Given the description of an element on the screen output the (x, y) to click on. 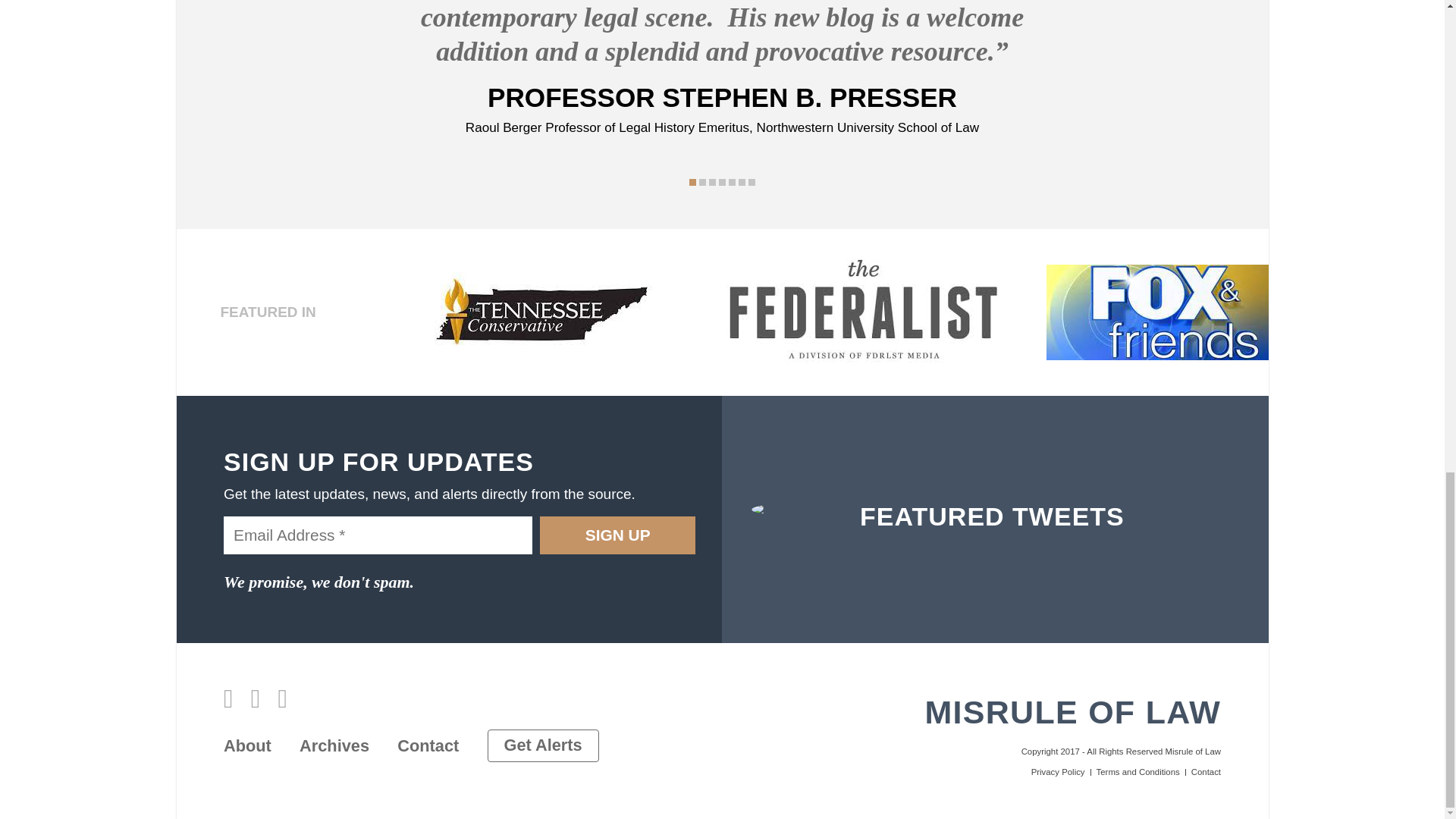
1 (691, 182)
SIGN UP (617, 535)
2 (702, 182)
